Given the description of an element on the screen output the (x, y) to click on. 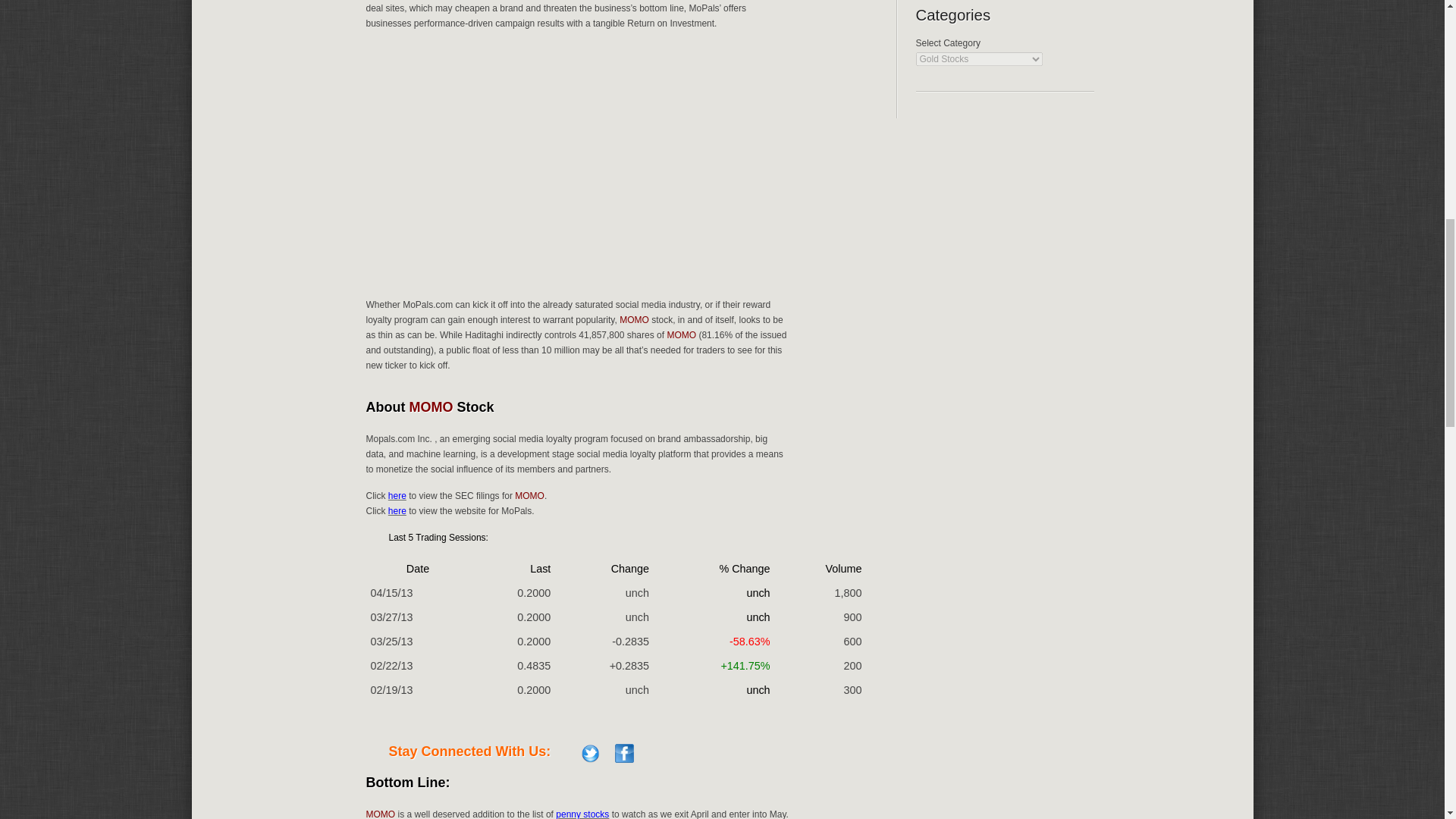
here (397, 495)
penny stocks (582, 814)
here (397, 511)
